Given the description of an element on the screen output the (x, y) to click on. 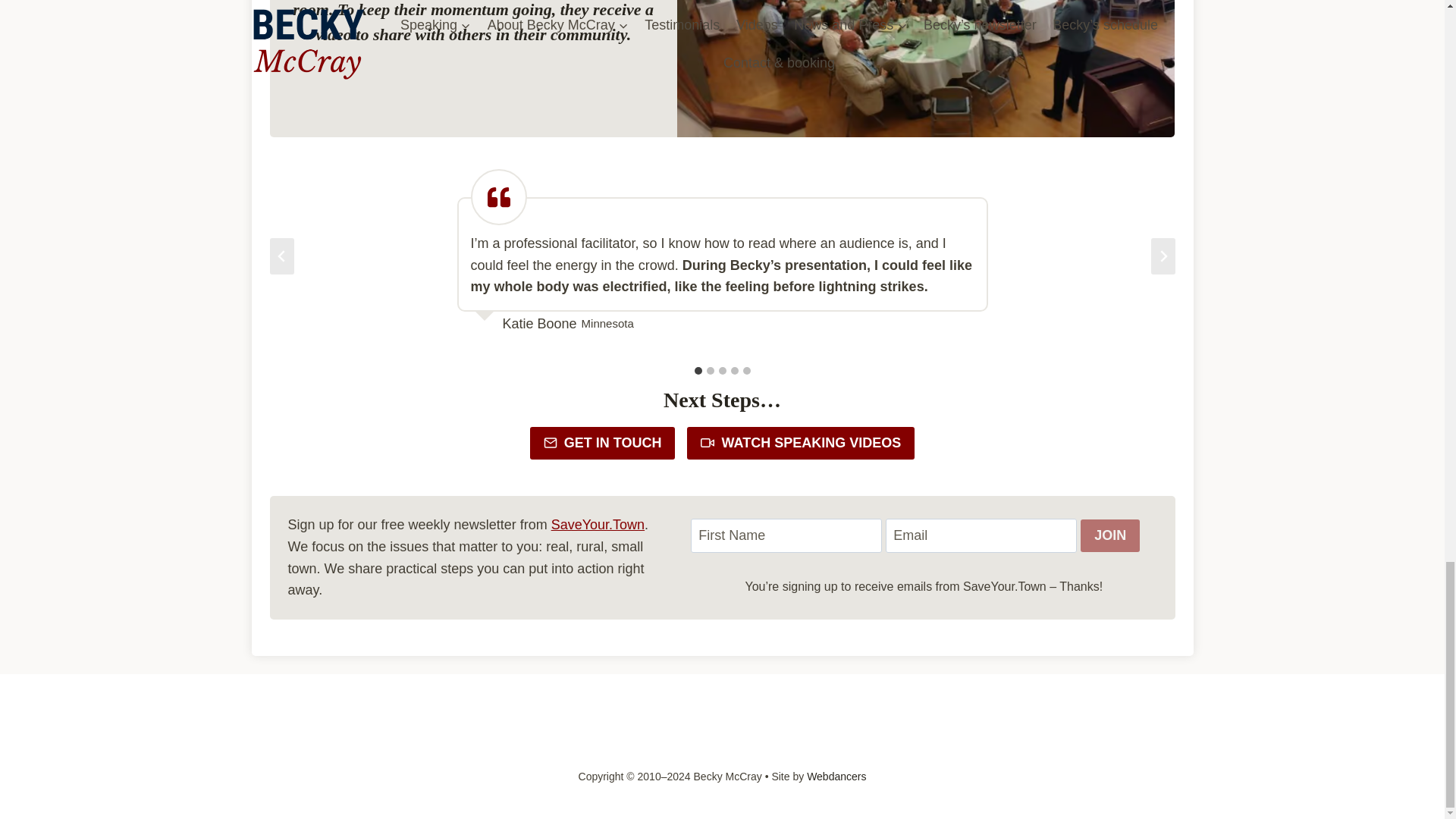
Join (1110, 535)
GET IN TOUCH (602, 442)
WATCH SPEAKING VIDEOS (800, 442)
